Given the description of an element on the screen output the (x, y) to click on. 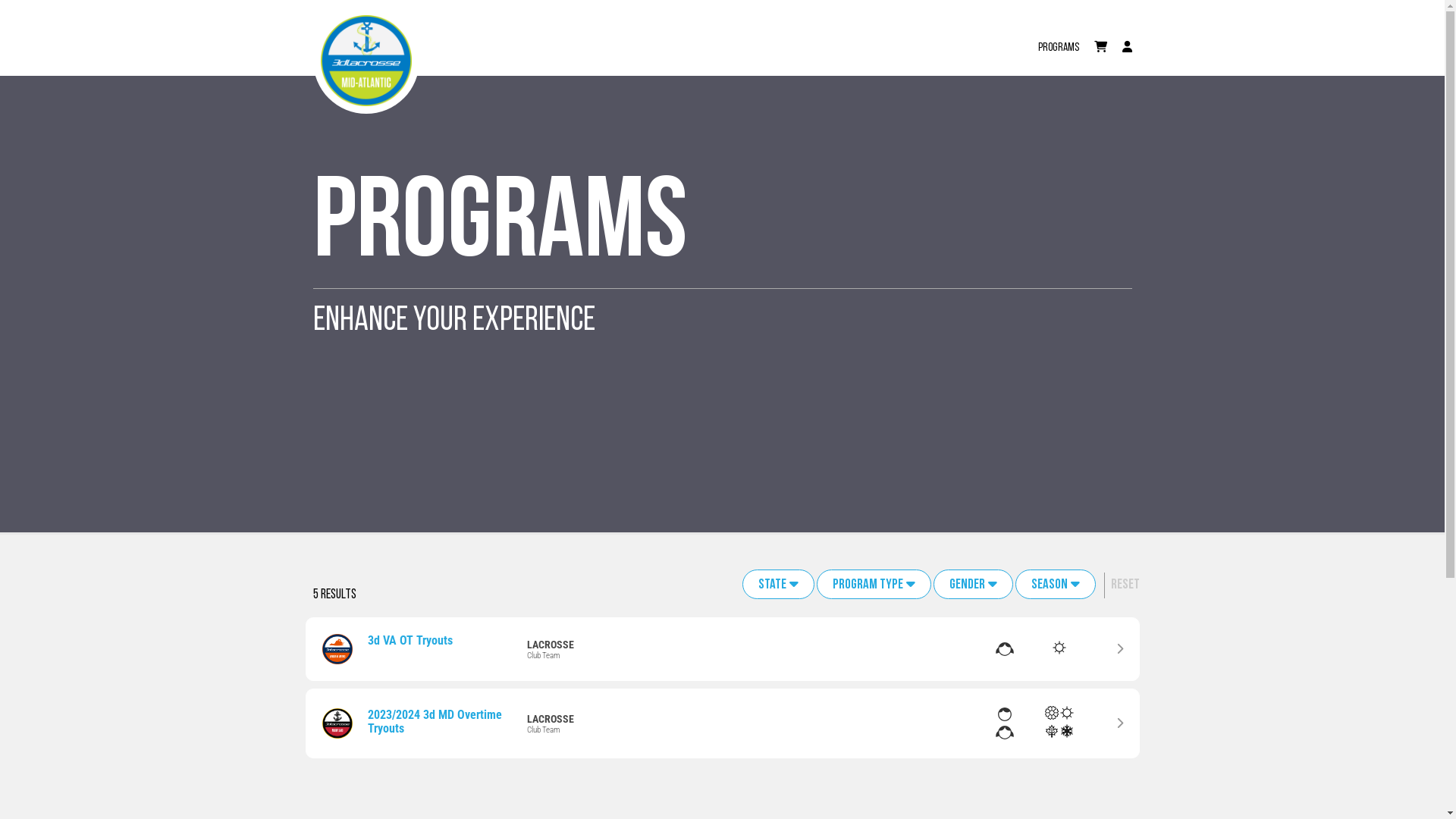
Girls Element type: hover (1003, 732)
Gender Element type: text (972, 584)
3d VA OT Tryouts
LACROSSE
Club Team Element type: text (721, 648)
Reset Element type: text (1121, 585)
Girls Element type: hover (1003, 649)
Program Type Element type: text (872, 584)
State Element type: text (777, 584)
2023/2024 3d MD Overtime Tryouts
LACROSSE
Club Team Element type: text (721, 723)
Boys Element type: hover (1003, 714)
Season Element type: text (1054, 584)
Programs Element type: text (1057, 38)
